Given the description of an element on the screen output the (x, y) to click on. 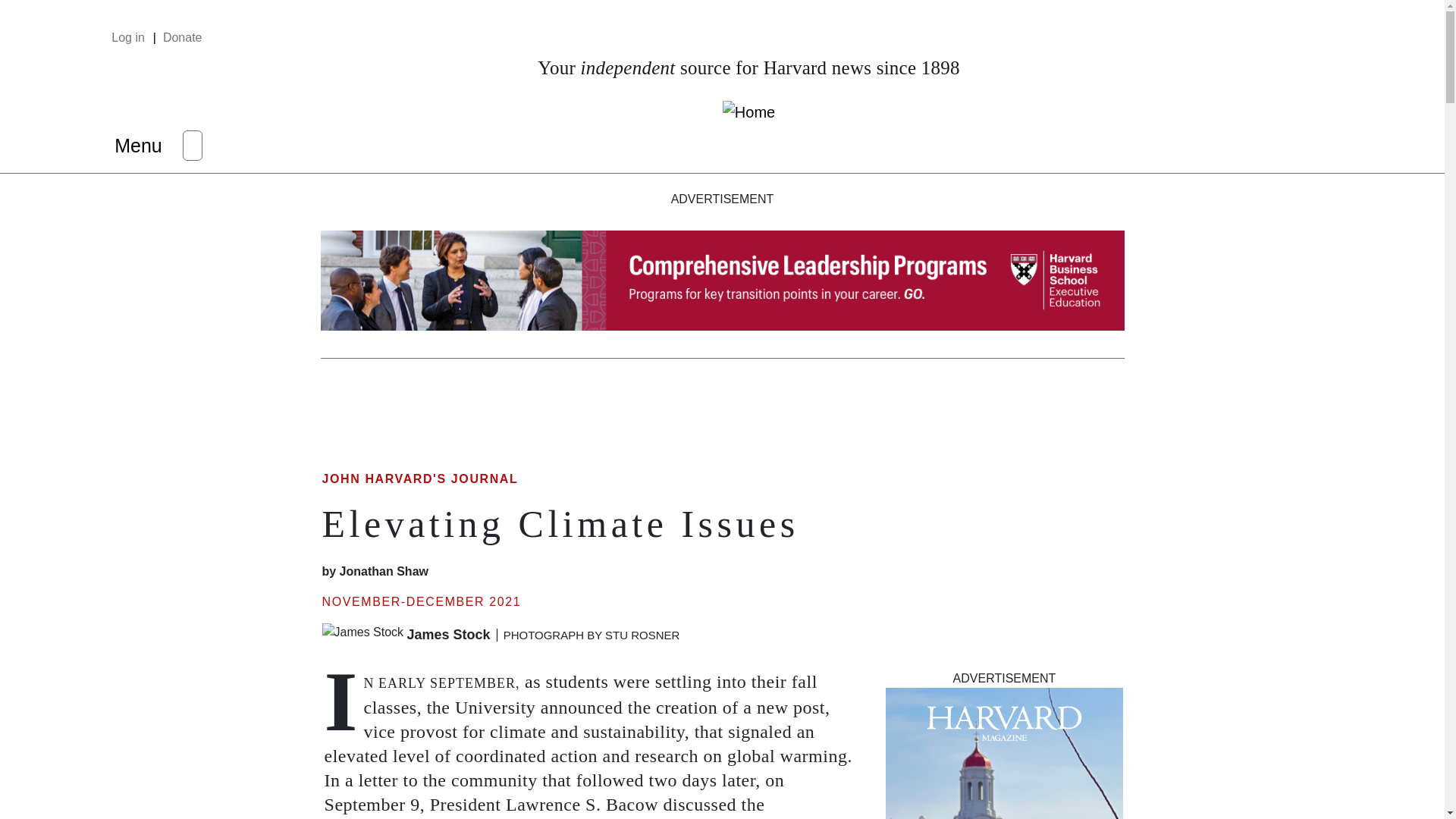
Donate (178, 37)
Home (748, 111)
Menu (138, 145)
Log in (133, 37)
Sustain our future. (1003, 753)
